Given the description of an element on the screen output the (x, y) to click on. 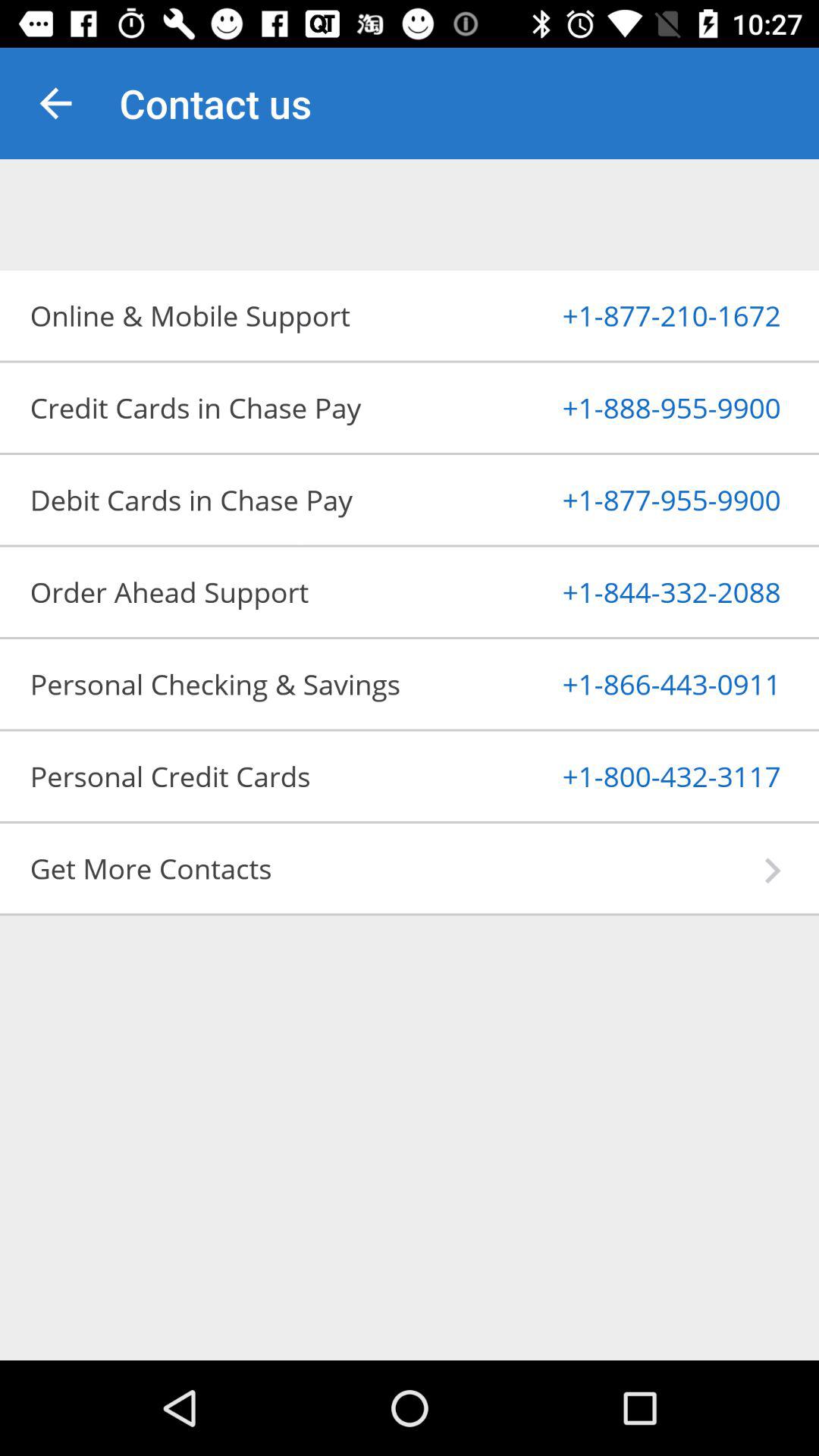
flip until get more contacts item (397, 868)
